Given the description of an element on the screen output the (x, y) to click on. 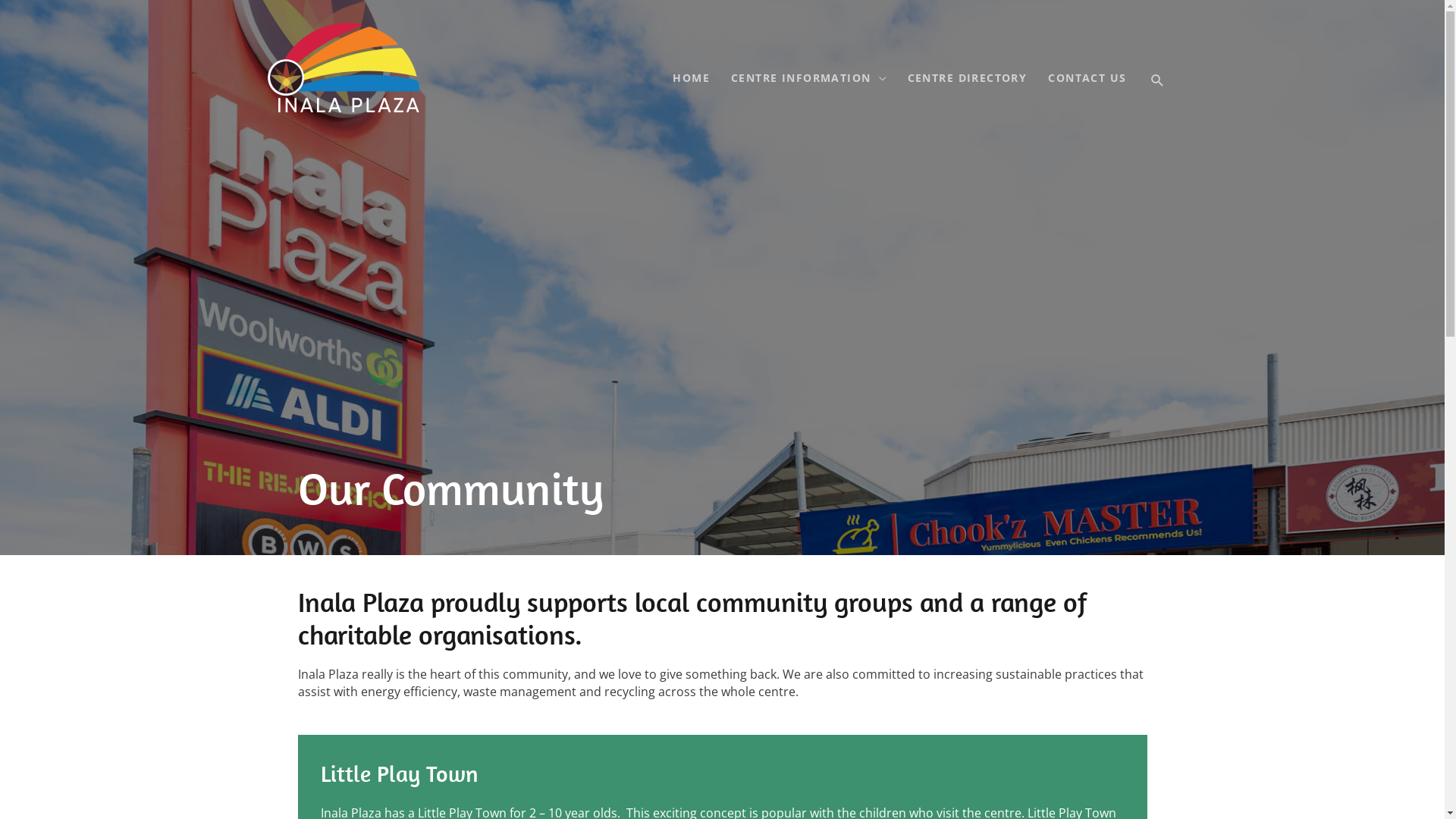
CENTRE DIRECTORY Element type: text (967, 77)
CONTACT US Element type: text (1086, 77)
HOME Element type: text (691, 77)
CENTRE INFORMATION Element type: text (808, 77)
